Given the description of an element on the screen output the (x, y) to click on. 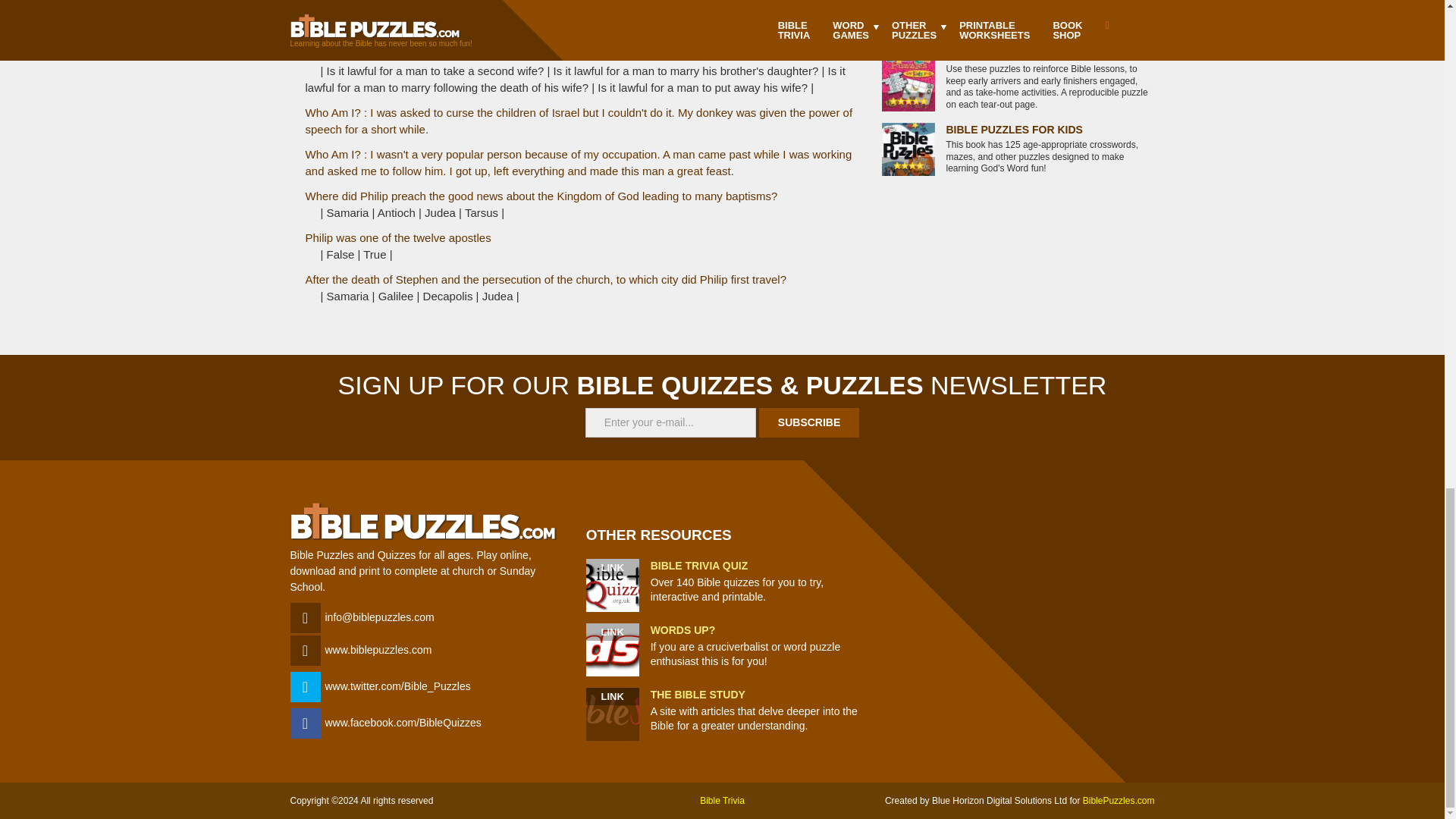
Philip was one of the twelve apostles (397, 237)
